Given the description of an element on the screen output the (x, y) to click on. 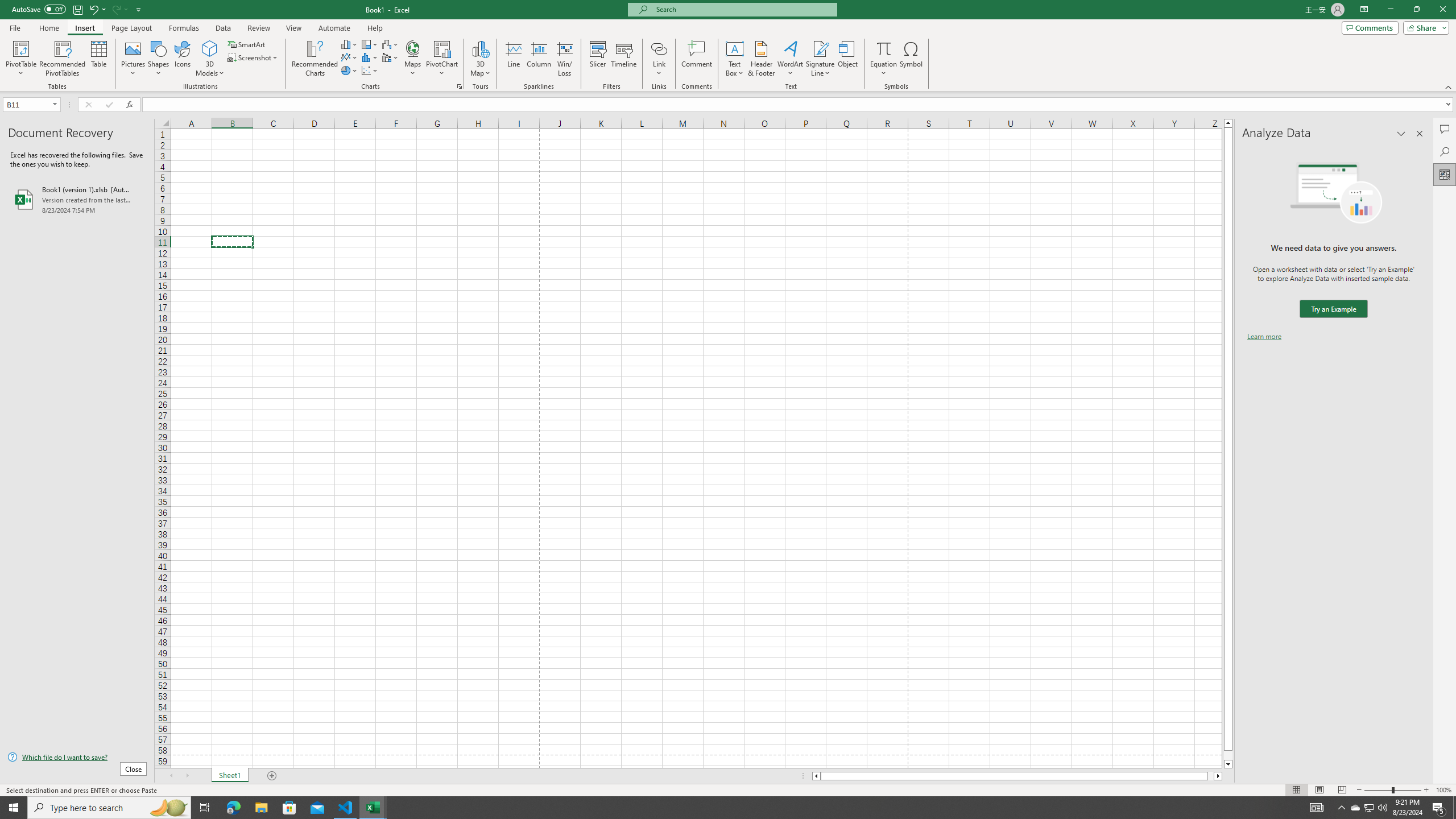
Maps (412, 58)
Table (98, 58)
Insert Column or Bar Chart (349, 44)
Pictures (133, 58)
Object... (847, 58)
PivotTable (20, 48)
Comment (696, 58)
